Given the description of an element on the screen output the (x, y) to click on. 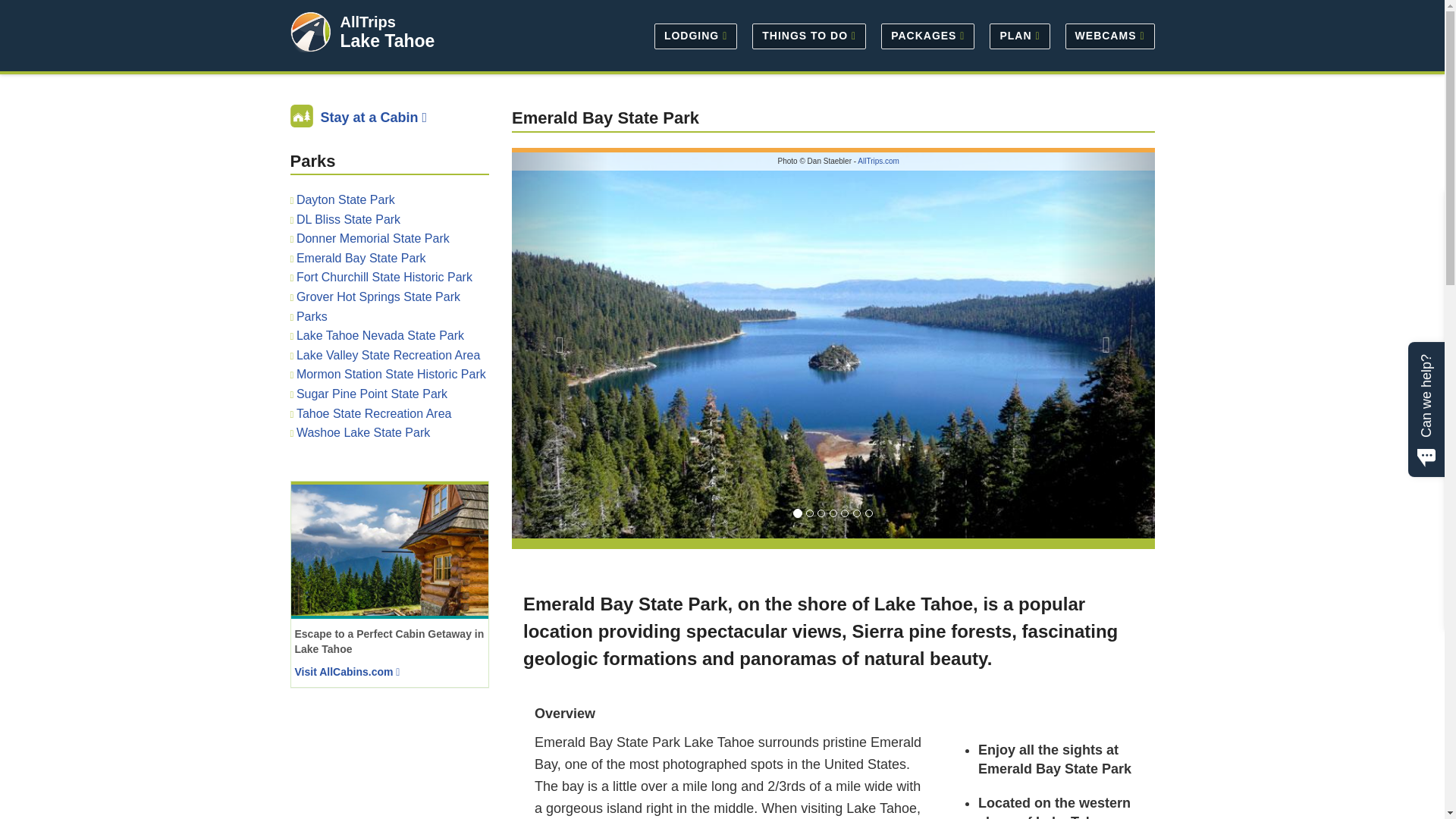
AllTrips.com (878, 161)
THINGS TO DO (808, 35)
LODGING (695, 35)
AllTrips (366, 21)
Lake Tahoe (386, 40)
PACKAGES (927, 35)
WEBCAMS (1106, 35)
PLAN (1019, 35)
